Given the description of an element on the screen output the (x, y) to click on. 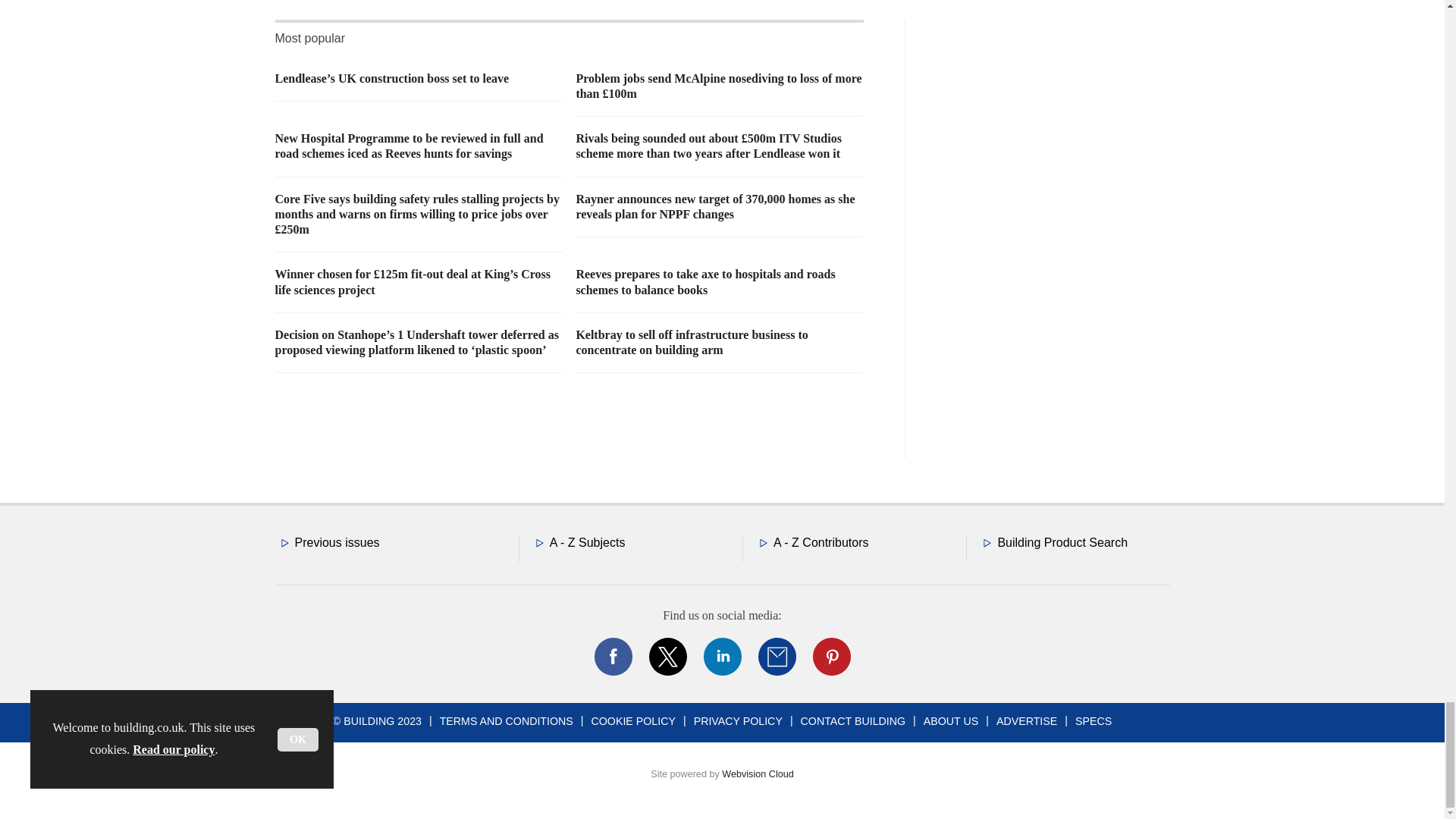
Connect with us on Twitter (667, 656)
Connect with us on Linked in (721, 656)
Email us (776, 656)
Connect with us on Facebook (611, 656)
Connect with us on Pinterest (830, 656)
